Given the description of an element on the screen output the (x, y) to click on. 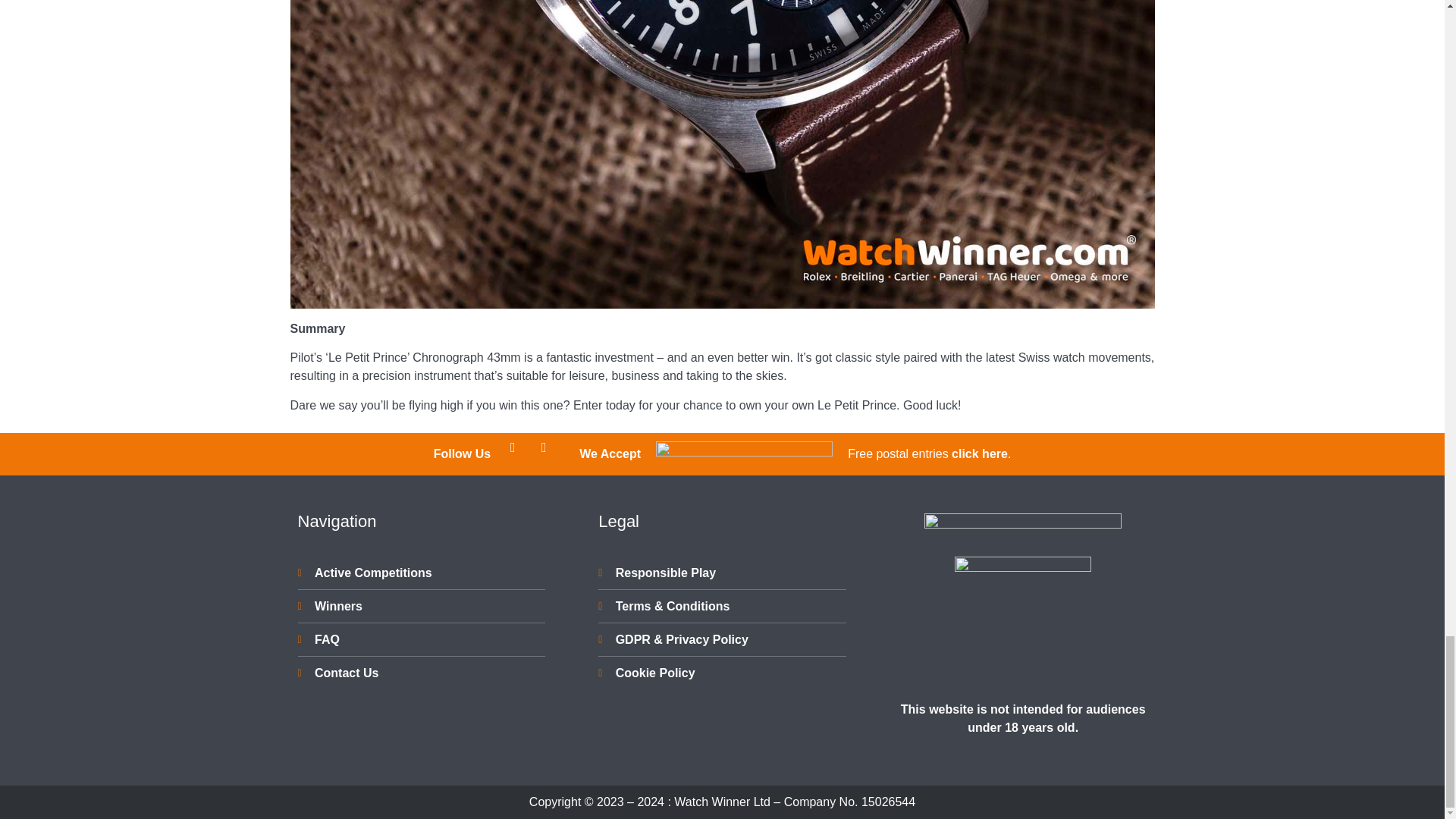
Winners (420, 606)
Cookie Policy (721, 673)
click here (979, 453)
Responsible Play (721, 573)
FAQ (420, 639)
Active Competitions (420, 573)
Contact Us (420, 673)
